Given the description of an element on the screen output the (x, y) to click on. 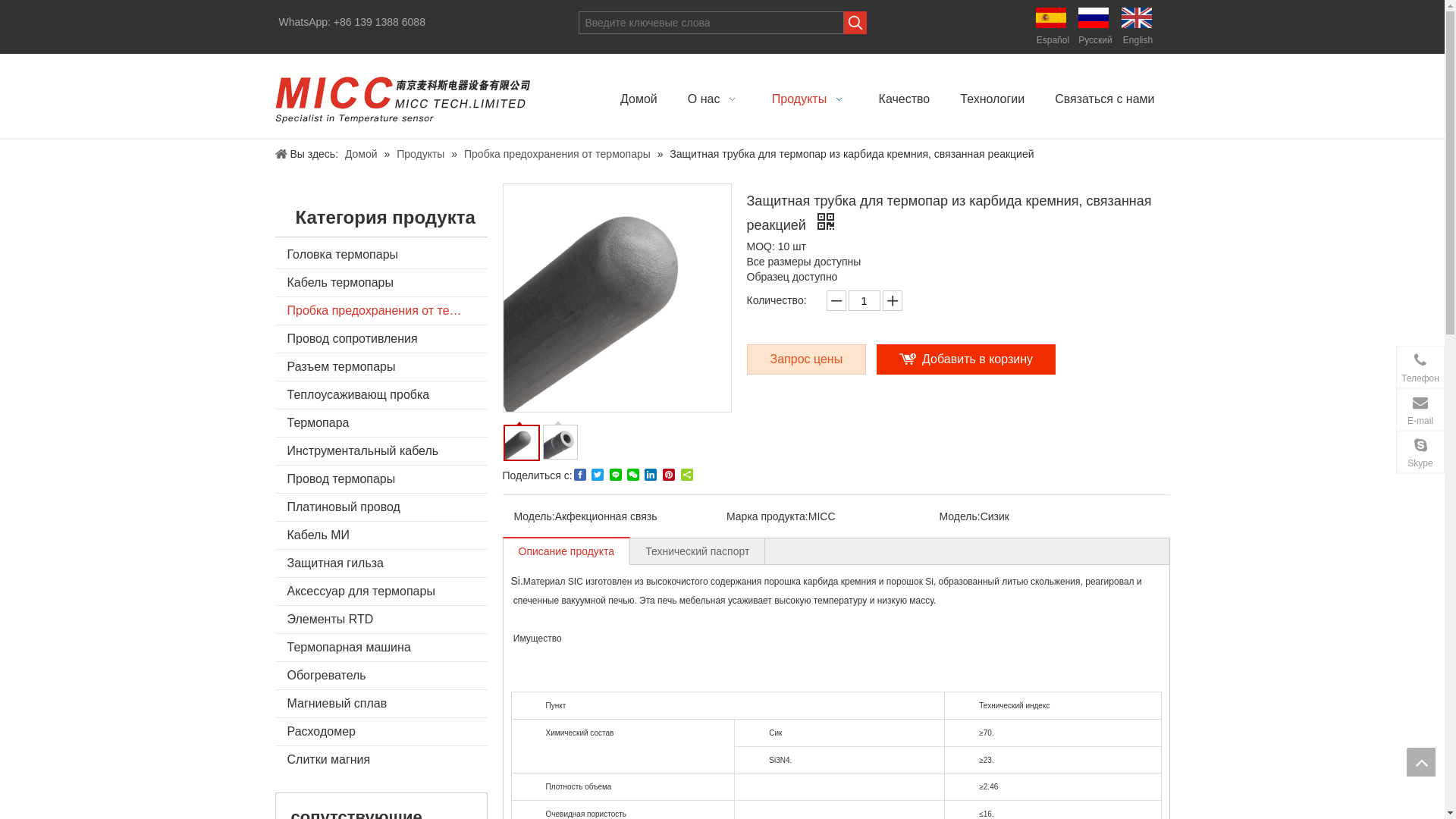
+86 13913886088 Element type: text (1335, 379)
Skype Element type: text (1420, 451)
English Element type: text (1137, 27)
micc@micc.cc Element type: text (1318, 422)
top Element type: text (1420, 761)
E-mail Element type: text (1420, 409)
Micc Tech Limited. Element type: hover (402, 95)
